Given the description of an element on the screen output the (x, y) to click on. 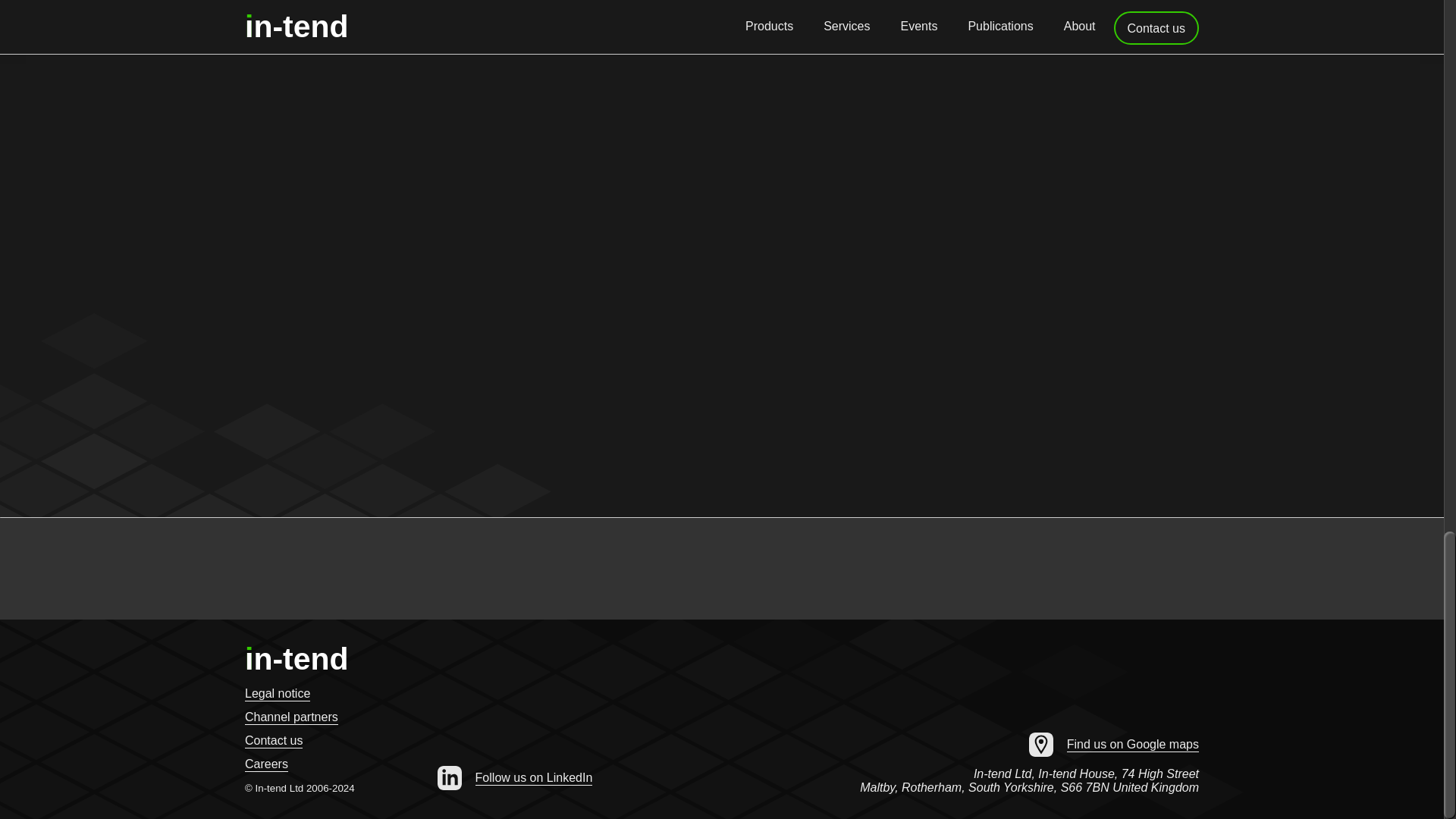
Careers (266, 764)
Contact us (273, 740)
Channel partners (290, 717)
Follow us on LinkedIn (513, 777)
Find us on Google maps (1112, 744)
Legal notice (277, 694)
